Given the description of an element on the screen output the (x, y) to click on. 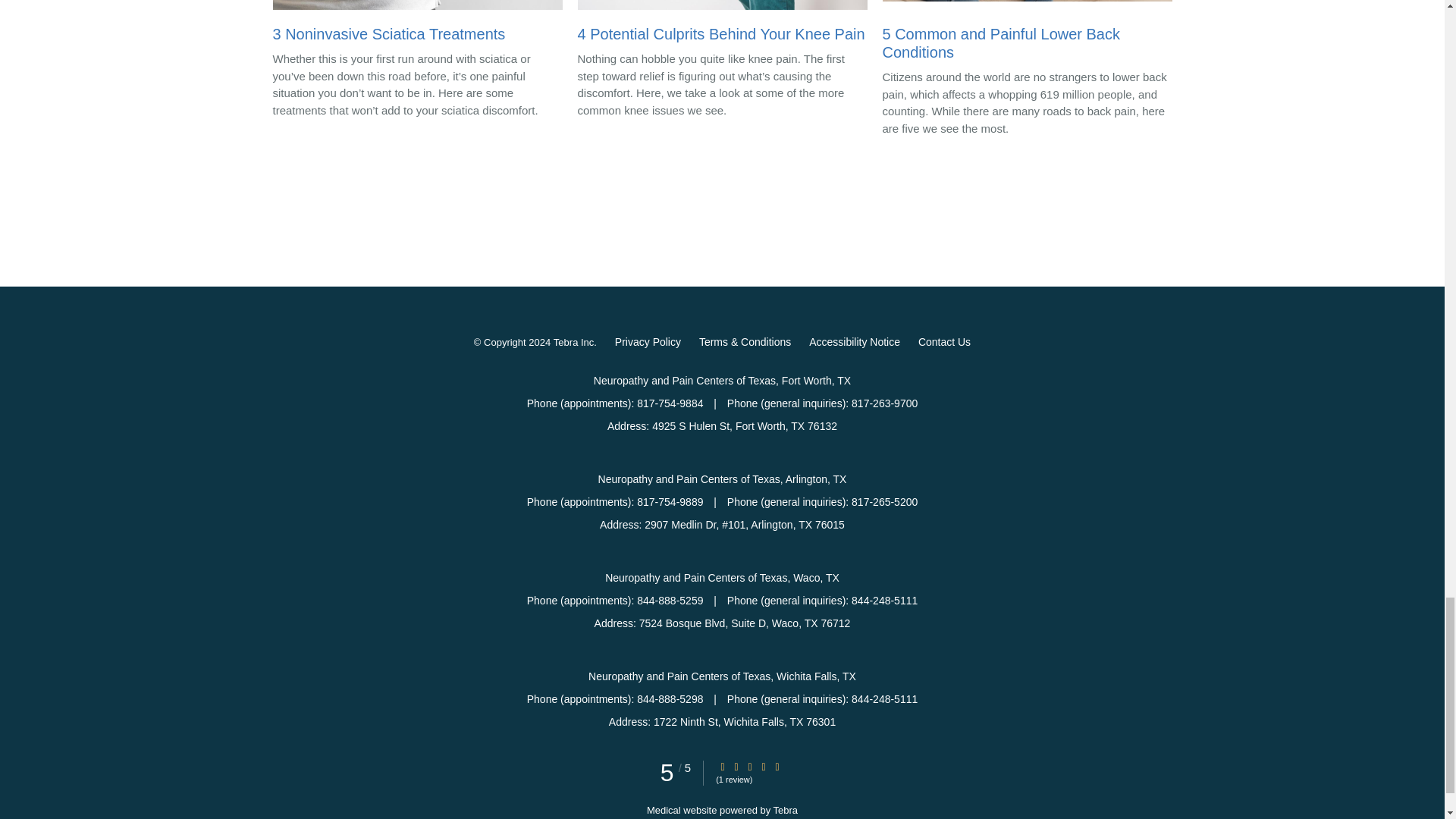
Star Rating (722, 767)
Star Rating (777, 767)
Star Rating (749, 767)
Star Rating (763, 767)
Star Rating (735, 767)
